Given the description of an element on the screen output the (x, y) to click on. 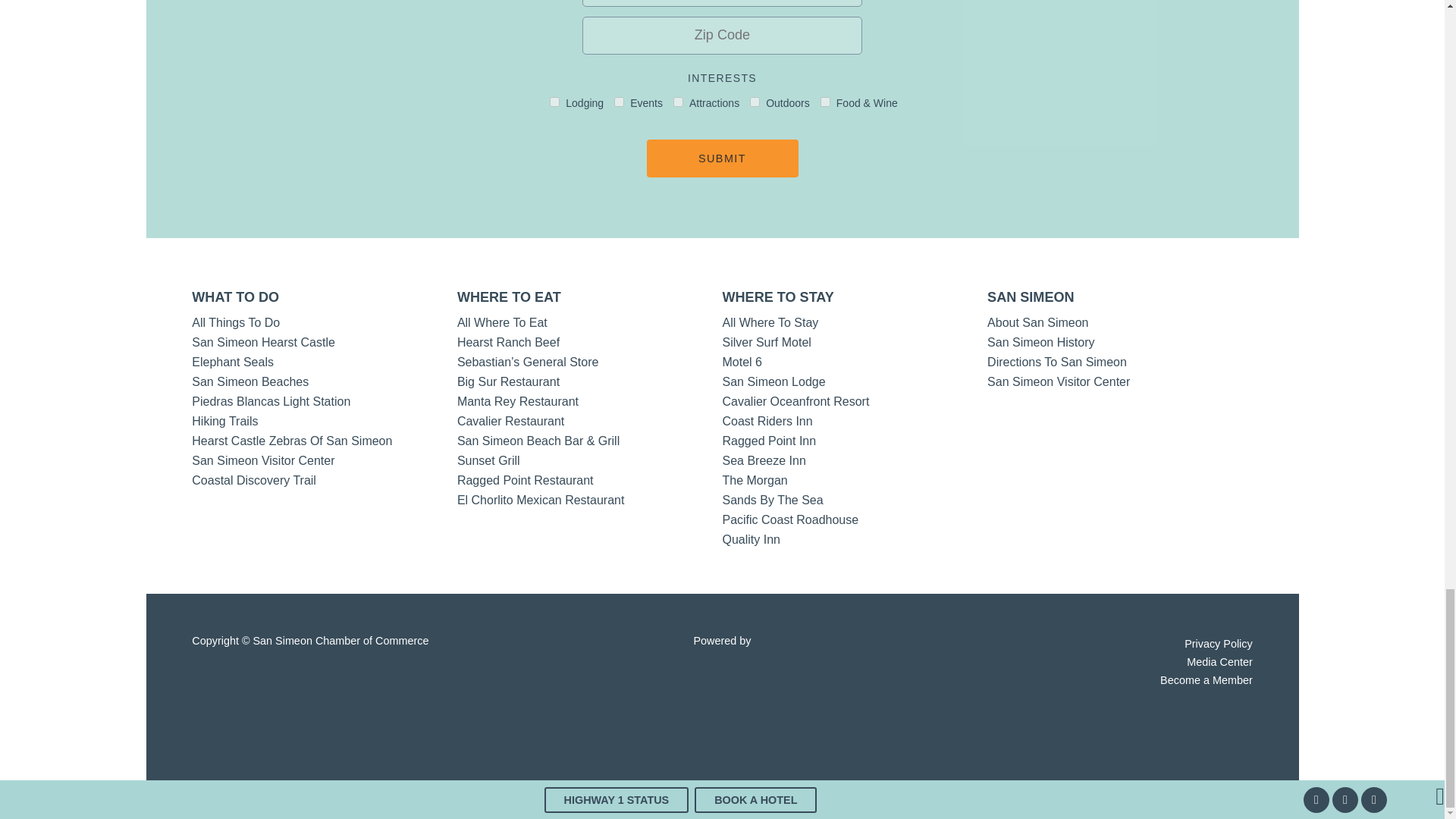
Outdoors (754, 102)
Lodging (554, 102)
Events (619, 102)
Attractions (677, 102)
SUBMIT (721, 158)
